Given the description of an element on the screen output the (x, y) to click on. 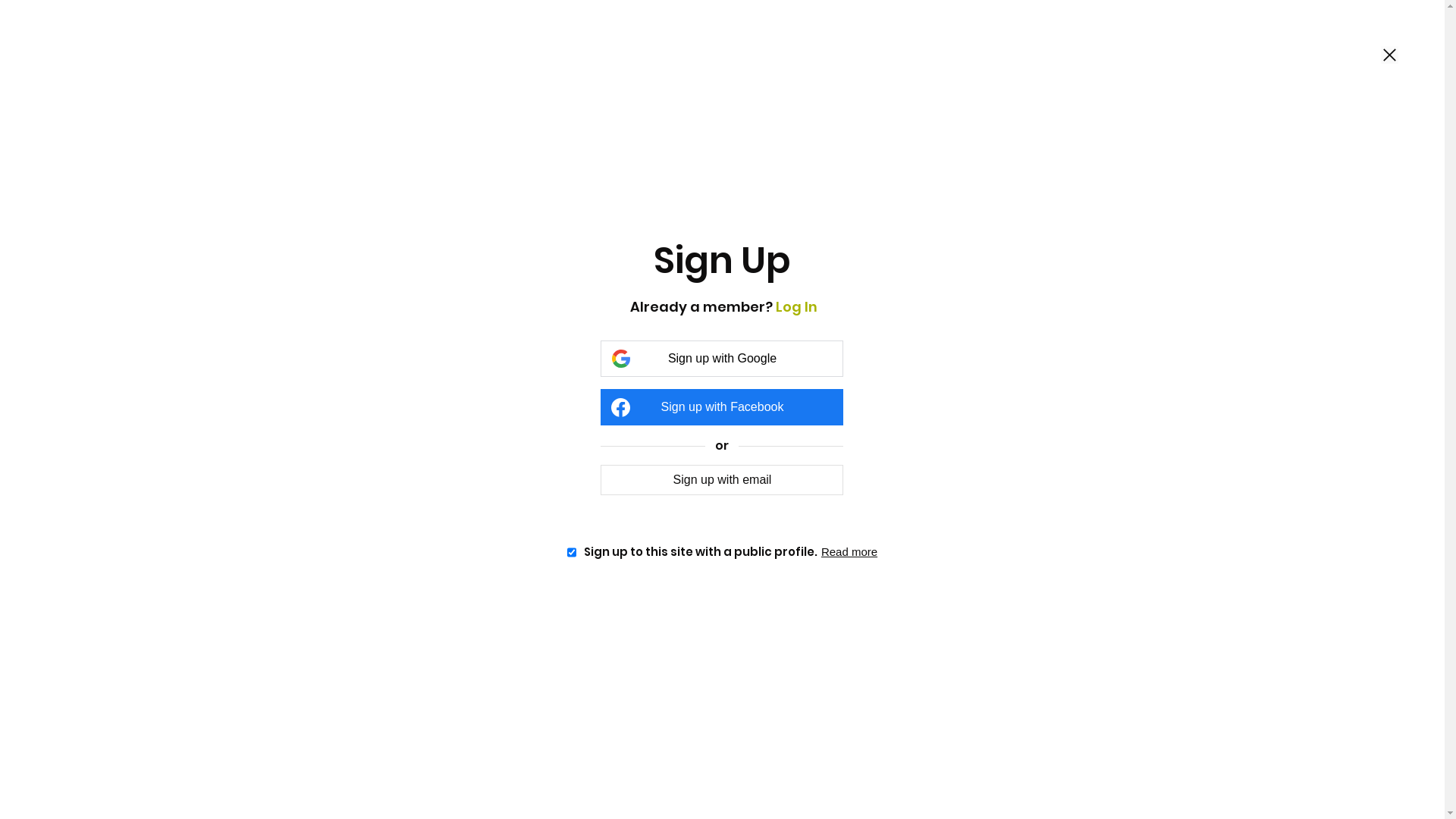
Sign up with Google Element type: text (721, 358)
Read more Element type: text (849, 551)
Sign up with Facebook Element type: text (721, 407)
Log In Element type: text (796, 306)
Sign up with email Element type: text (721, 479)
